Given the description of an element on the screen output the (x, y) to click on. 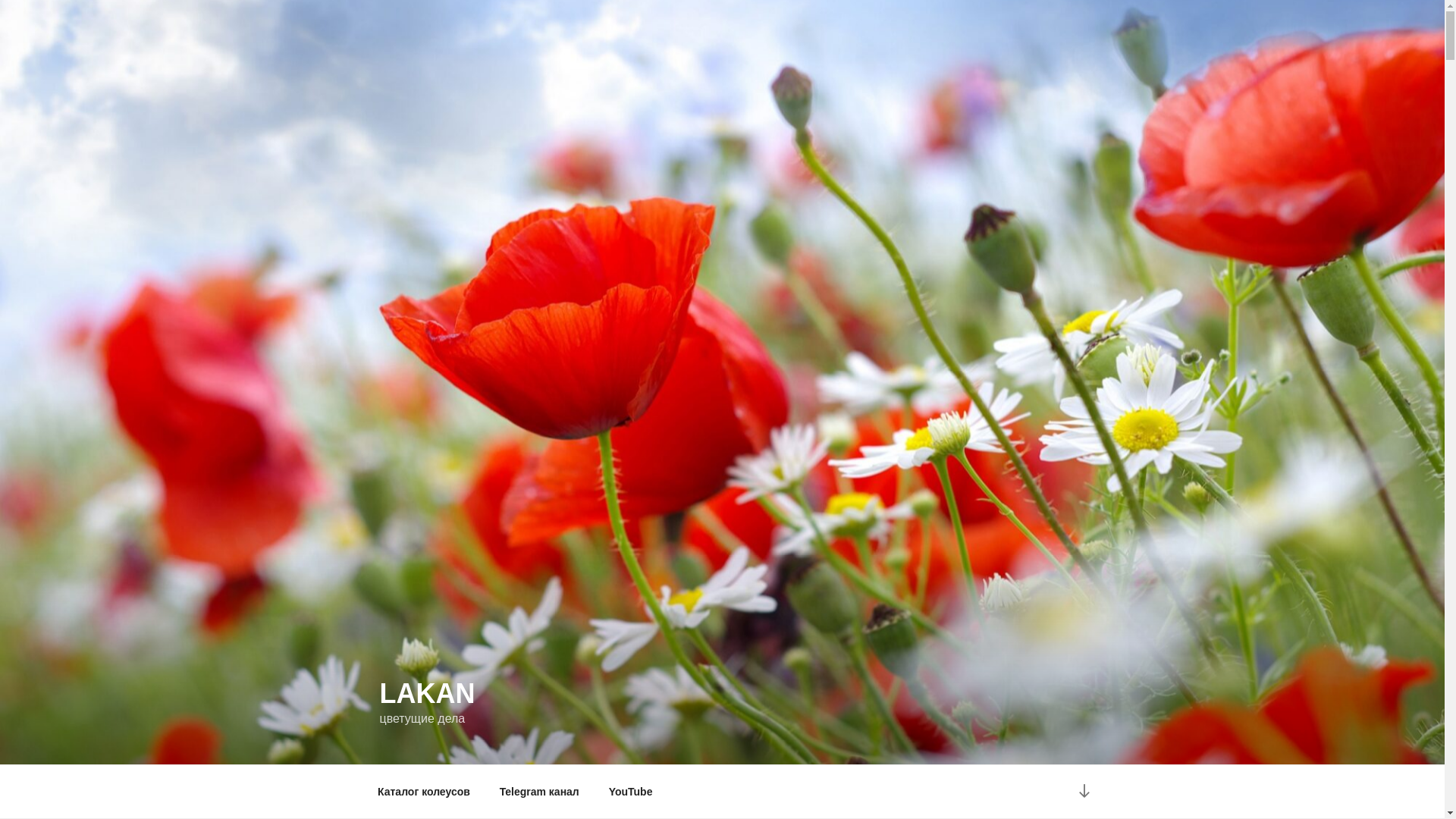
YouTube Element type: text (630, 791)
LAKAN Element type: text (426, 693)
